Given the description of an element on the screen output the (x, y) to click on. 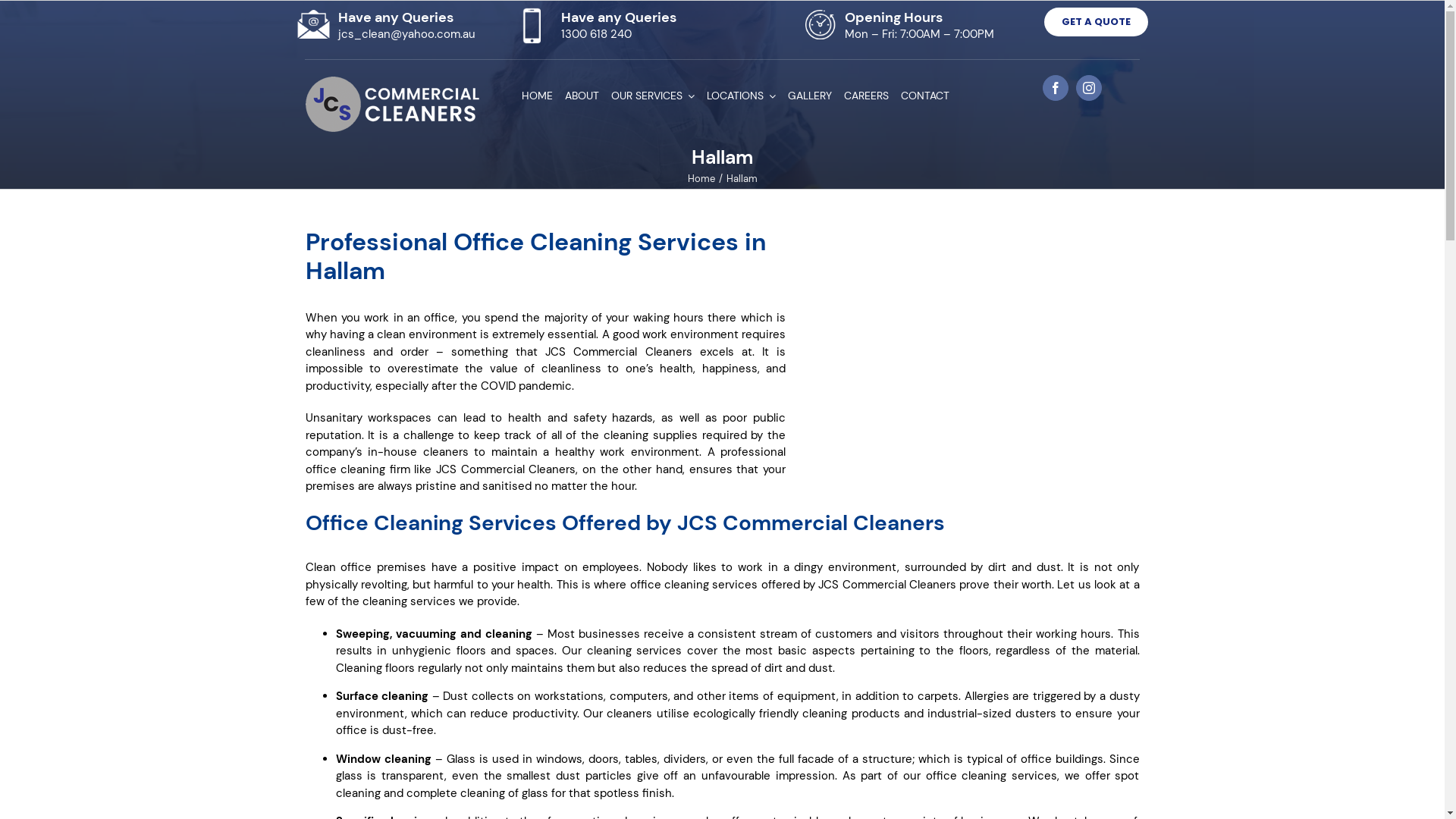
CONTACT Element type: text (930, 95)
Home Element type: text (700, 178)
OUR SERVICES Element type: text (658, 95)
LOCATIONS Element type: text (746, 95)
HOME Element type: text (542, 95)
1300 618 240 Element type: text (596, 33)
GALLERY Element type: text (815, 95)
jcs_clean@yahoo.com.au Element type: text (406, 33)
Instagram Element type: hover (1088, 87)
Facebook Element type: hover (1055, 87)
CAREERS Element type: text (872, 95)
GET A QUOTE Element type: text (1096, 21)
ABOUT Element type: text (587, 95)
